Given the description of an element on the screen output the (x, y) to click on. 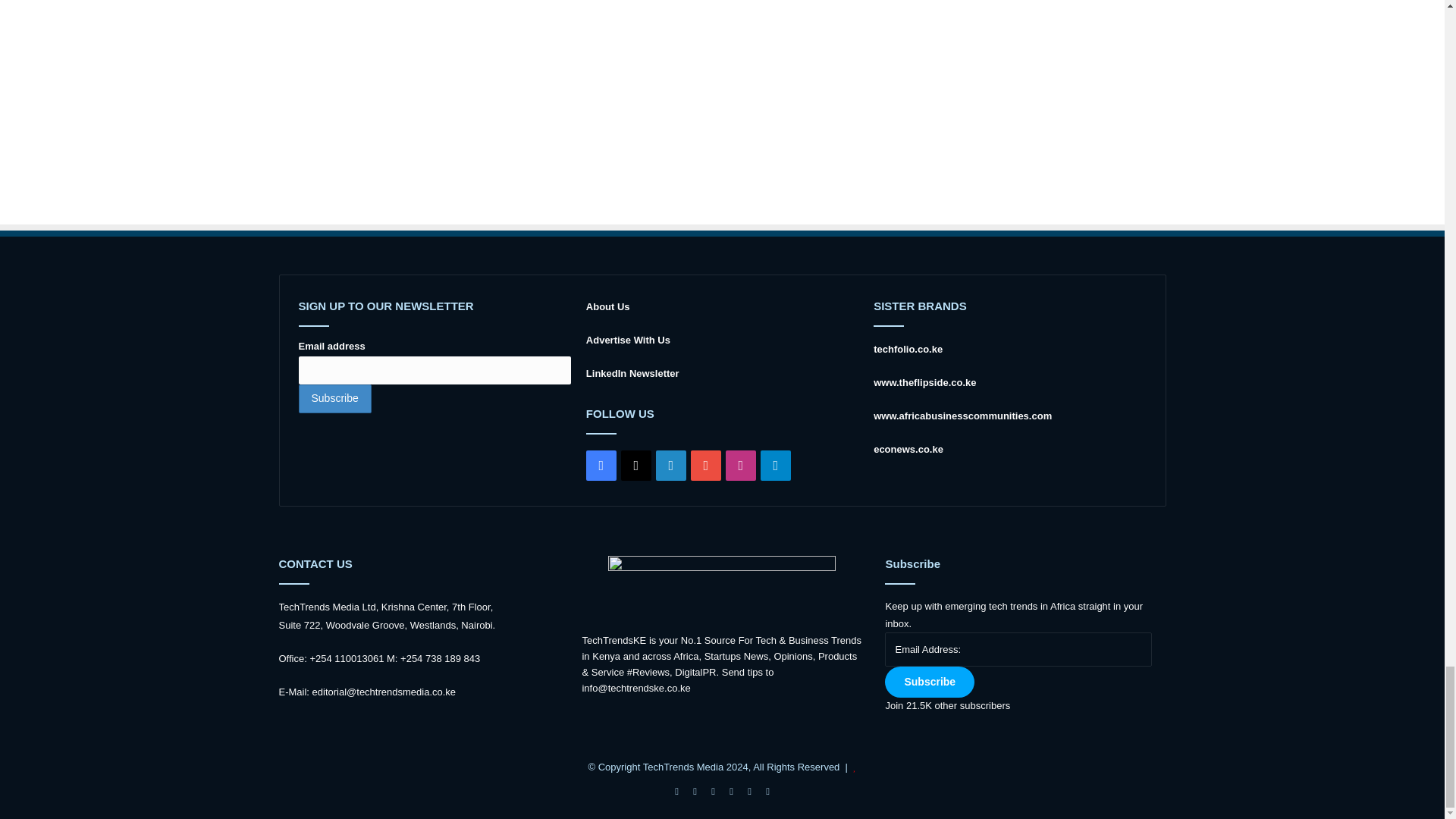
Subscribe (334, 398)
